Given the description of an element on the screen output the (x, y) to click on. 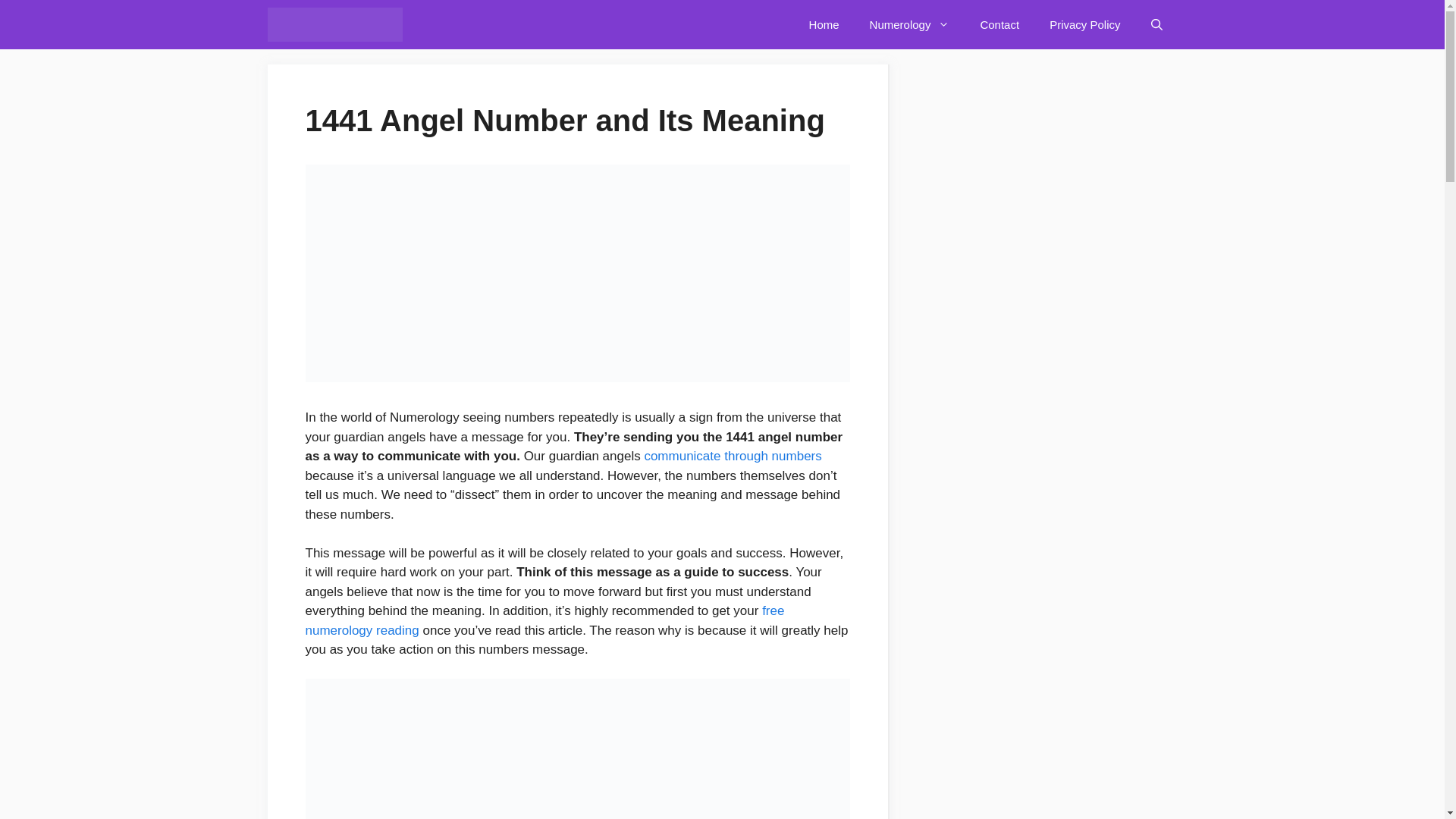
Privacy Policy (1084, 24)
Numerology (909, 24)
communicate through numbers (732, 455)
Home (823, 24)
free numerology reading (544, 620)
Contact (998, 24)
